Given the description of an element on the screen output the (x, y) to click on. 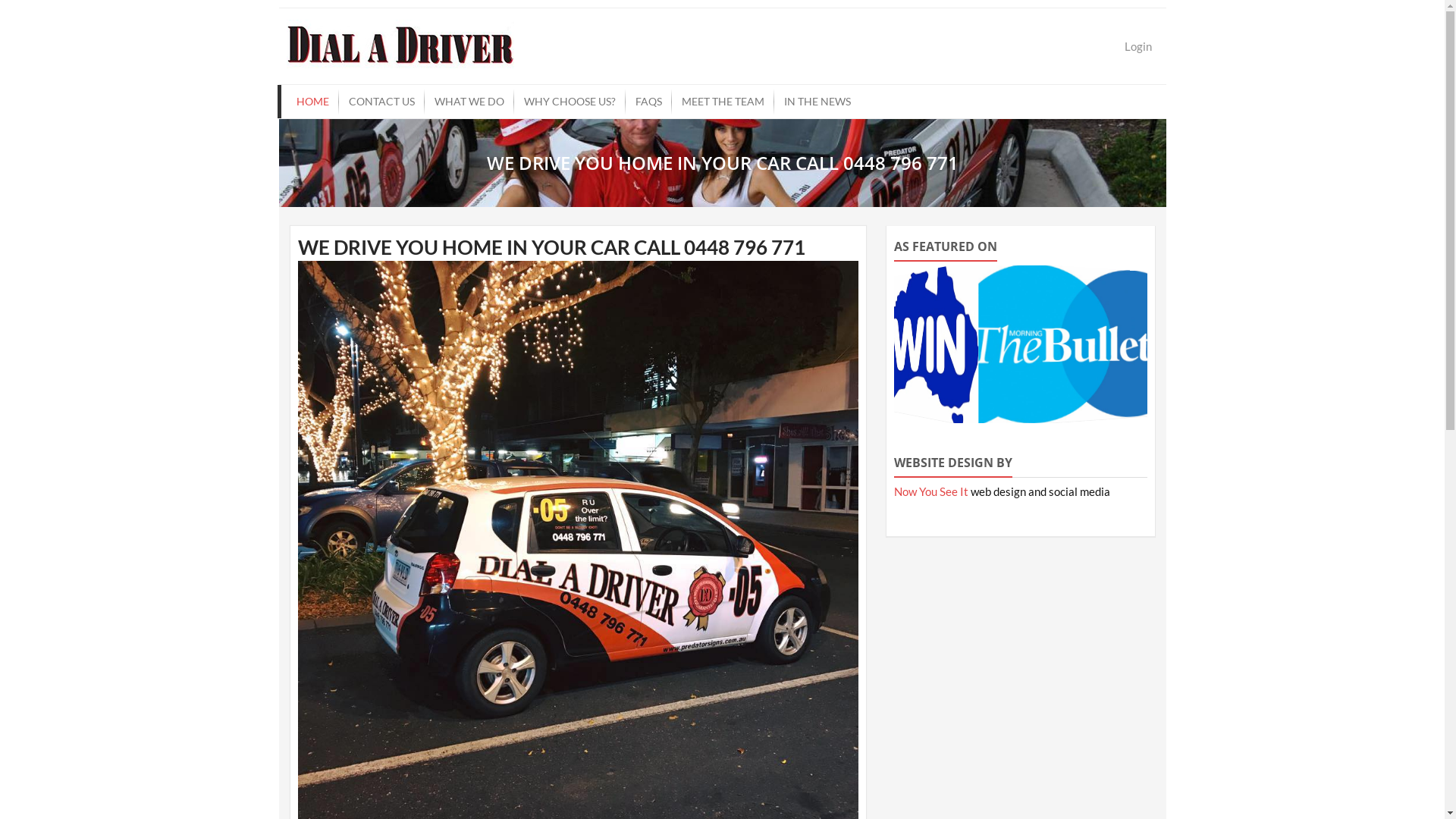
Login Element type: text (1137, 46)
WHAT WE DO Element type: text (469, 101)
IN THE NEWS Element type: text (816, 101)
HOME Element type: text (312, 101)
WHY CHOOSE US? Element type: text (569, 101)
MEET THE TEAM Element type: text (722, 101)
CONTACT US Element type: text (380, 101)
FAQS Element type: text (647, 101)
Now You See It Element type: text (931, 491)
